Given the description of an element on the screen output the (x, y) to click on. 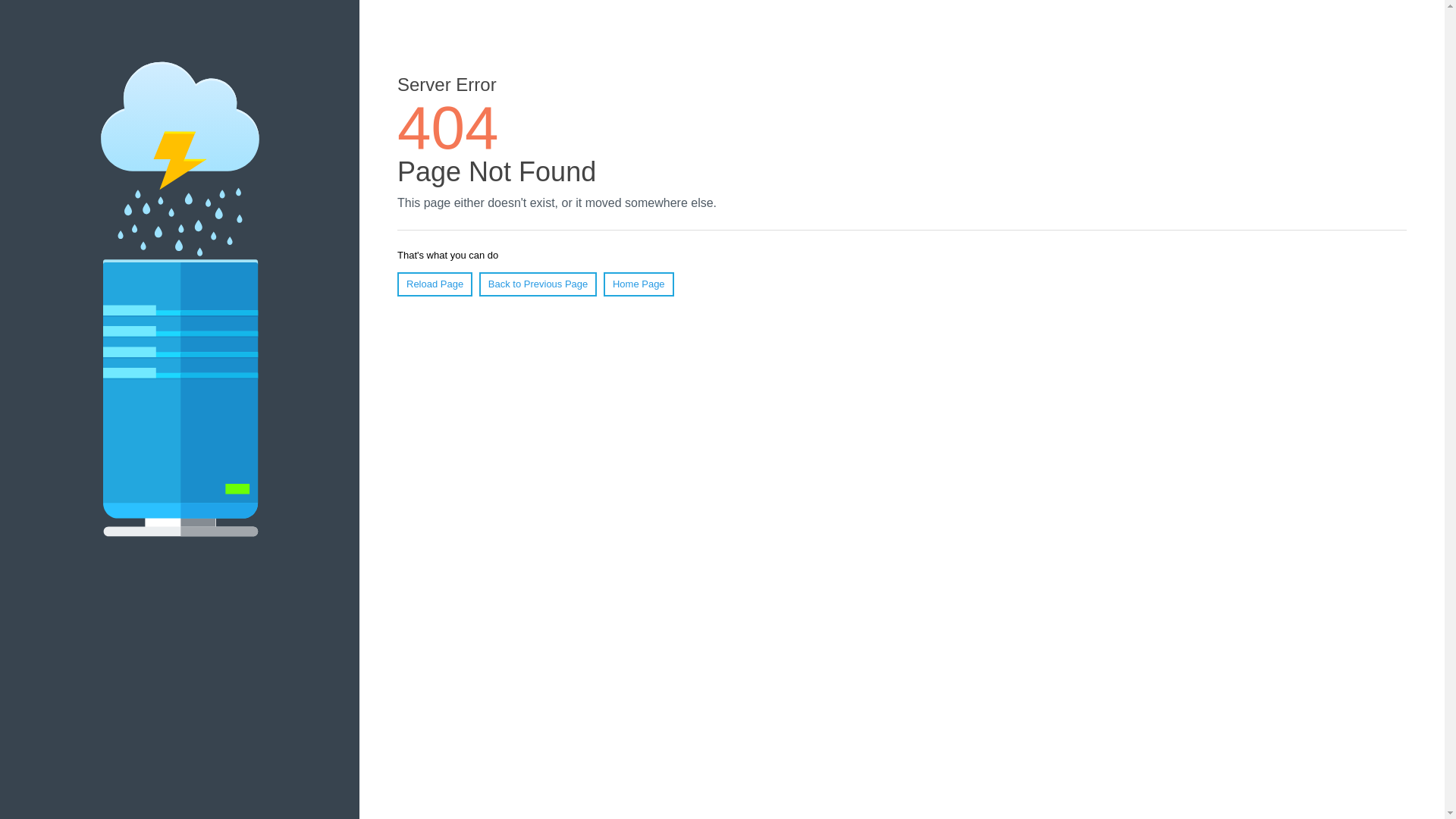
Back to Previous Page Element type: text (538, 284)
Home Page Element type: text (638, 284)
Reload Page Element type: text (434, 284)
